Given the description of an element on the screen output the (x, y) to click on. 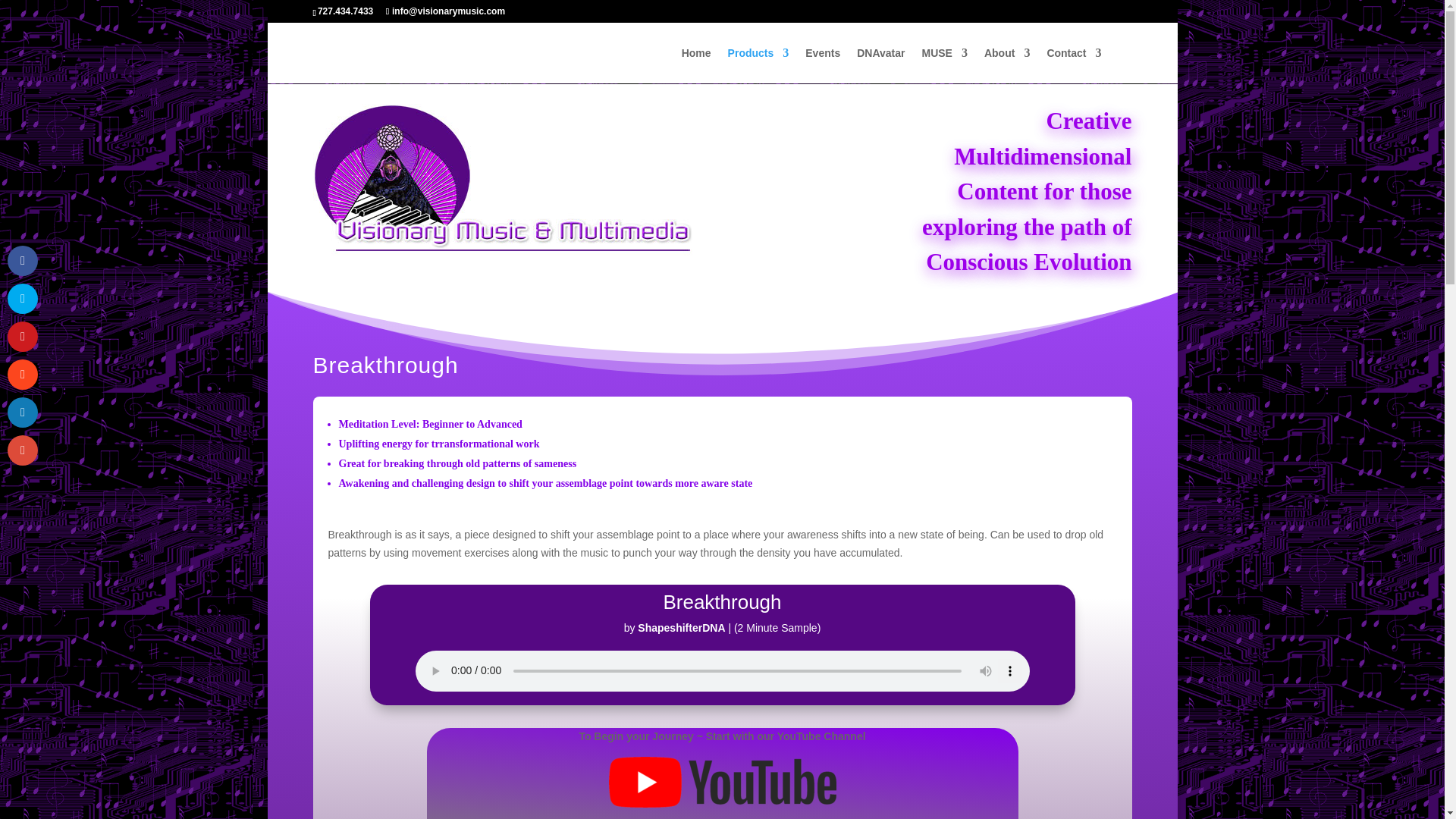
Products (758, 65)
Events (822, 65)
MUSE (943, 65)
DNAvatar (880, 65)
